Given the description of an element on the screen output the (x, y) to click on. 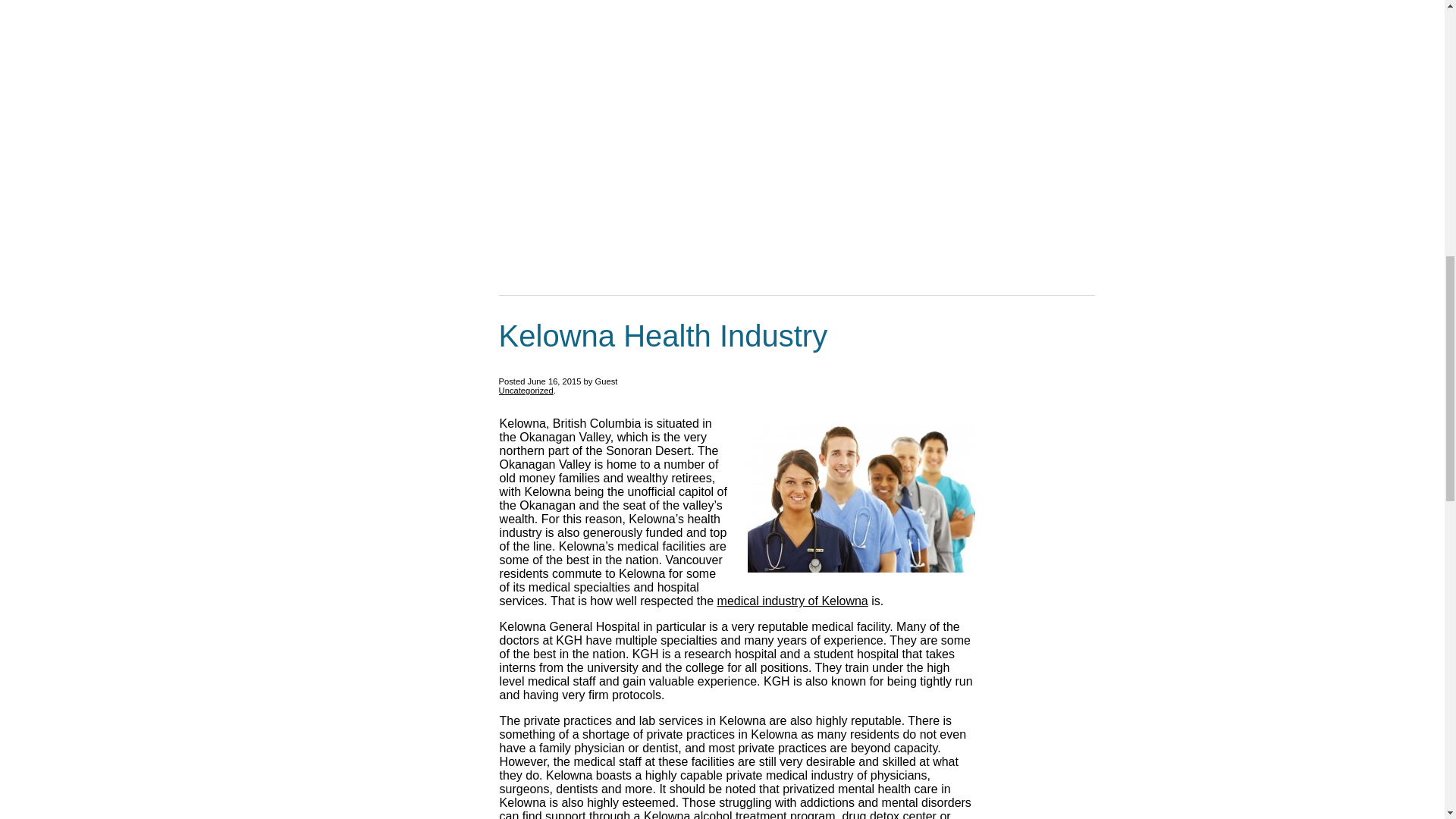
Uncategorized (526, 389)
